Given the description of an element on the screen output the (x, y) to click on. 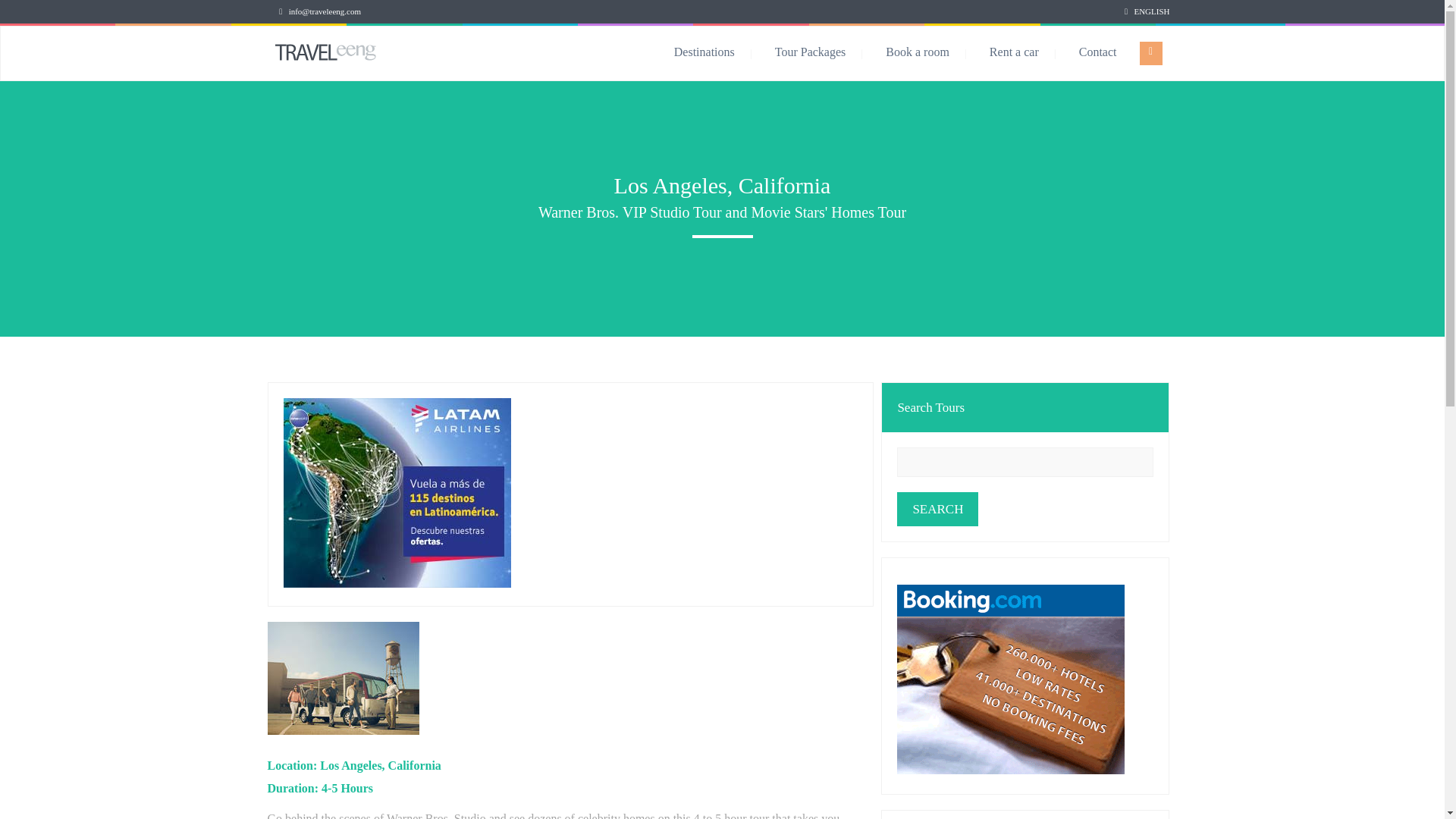
Tour Packages (826, 52)
Contact (1097, 51)
Destinations (720, 52)
Search (937, 509)
Search (937, 509)
ENGLISH (1151, 10)
Rent a car (1030, 52)
Book a room (933, 52)
